Given the description of an element on the screen output the (x, y) to click on. 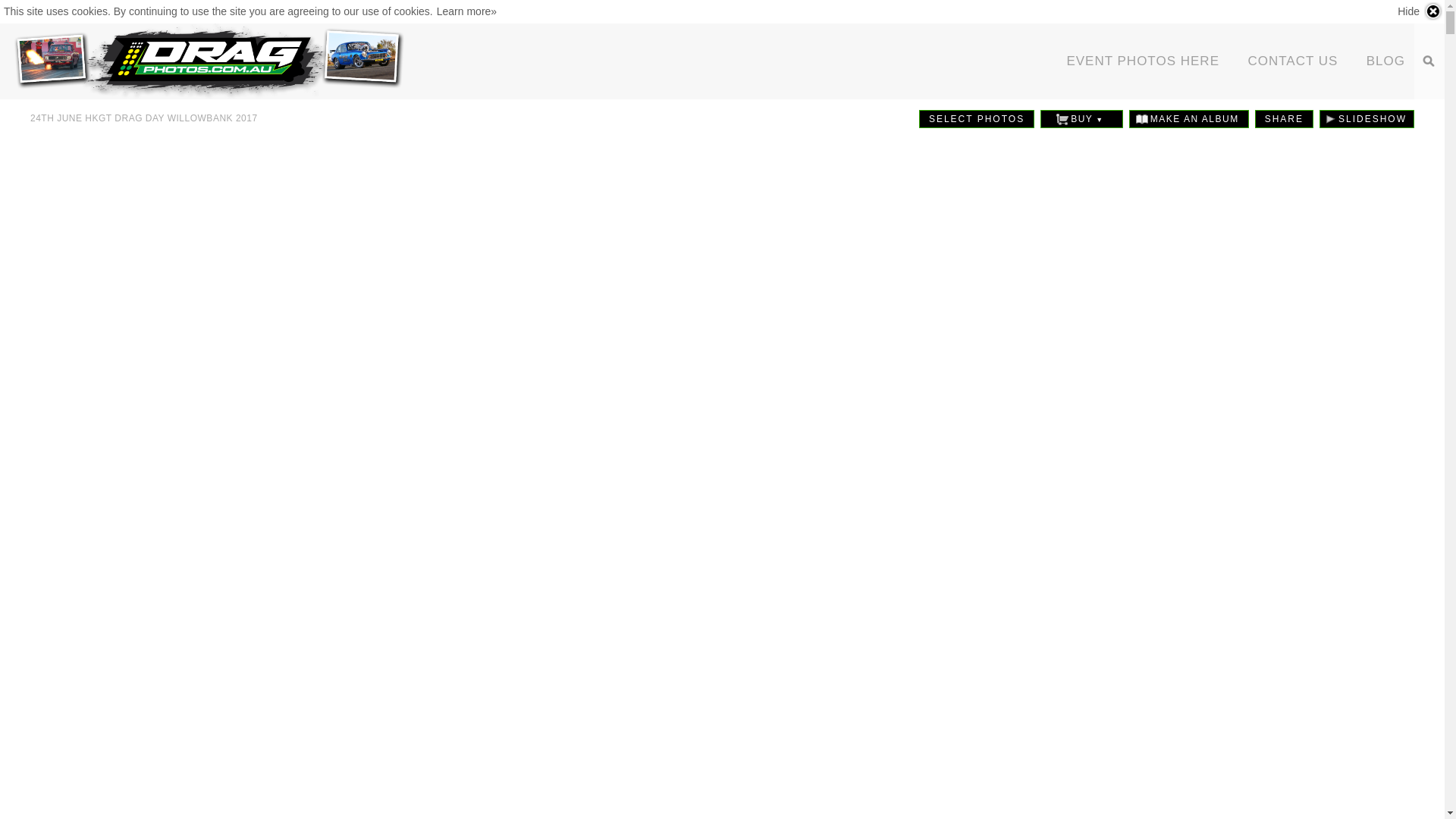
BLOG Element type: text (1385, 61)
CONTACT US Element type: text (1292, 61)
Dragphotos.com.au Element type: hover (205, 61)
Hide Element type: text (1419, 11)
EVENT PHOTOS HERE Element type: text (1142, 61)
